Given the description of an element on the screen output the (x, y) to click on. 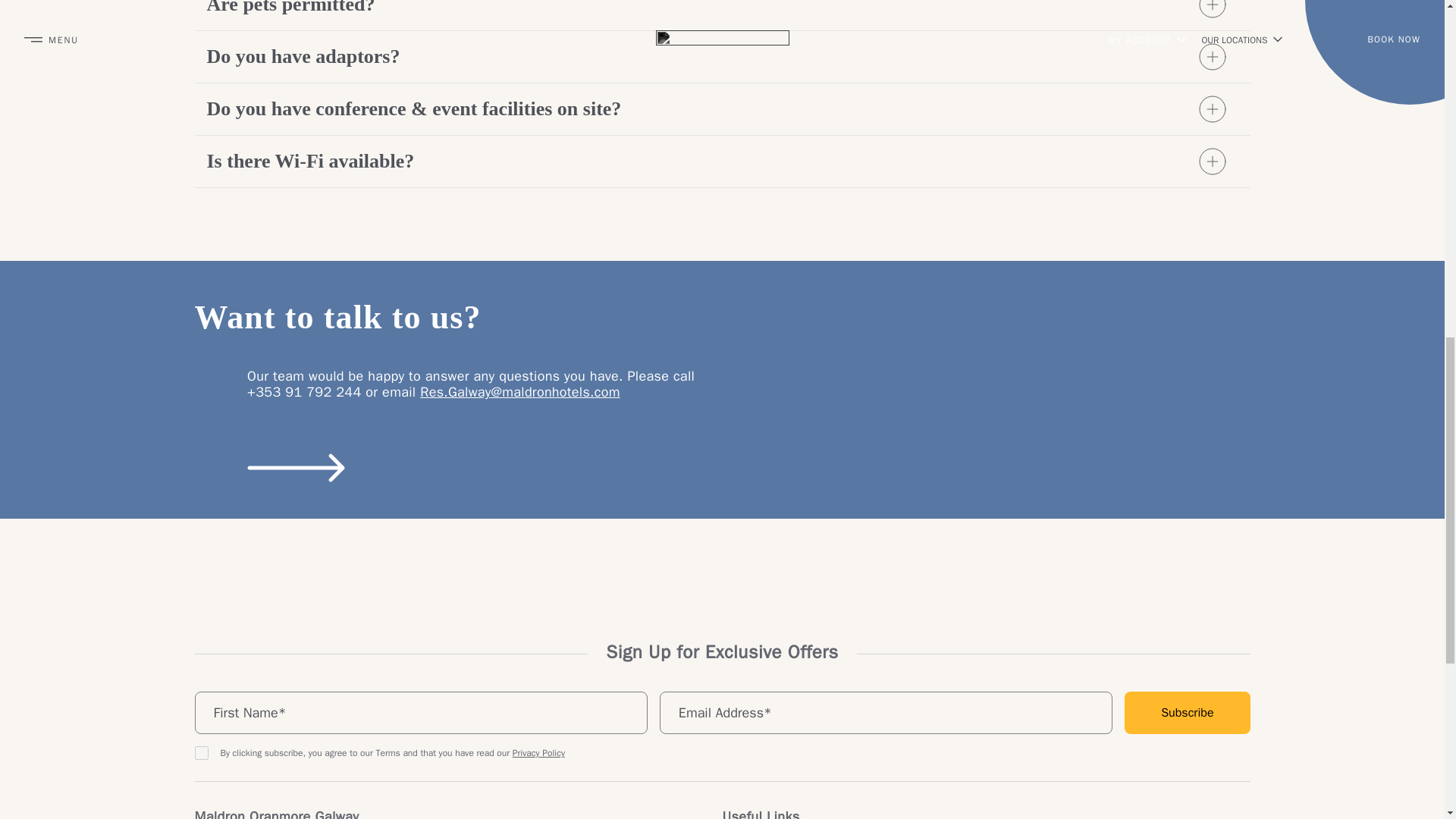
terms (200, 753)
Subscribe (1186, 712)
